Given the description of an element on the screen output the (x, y) to click on. 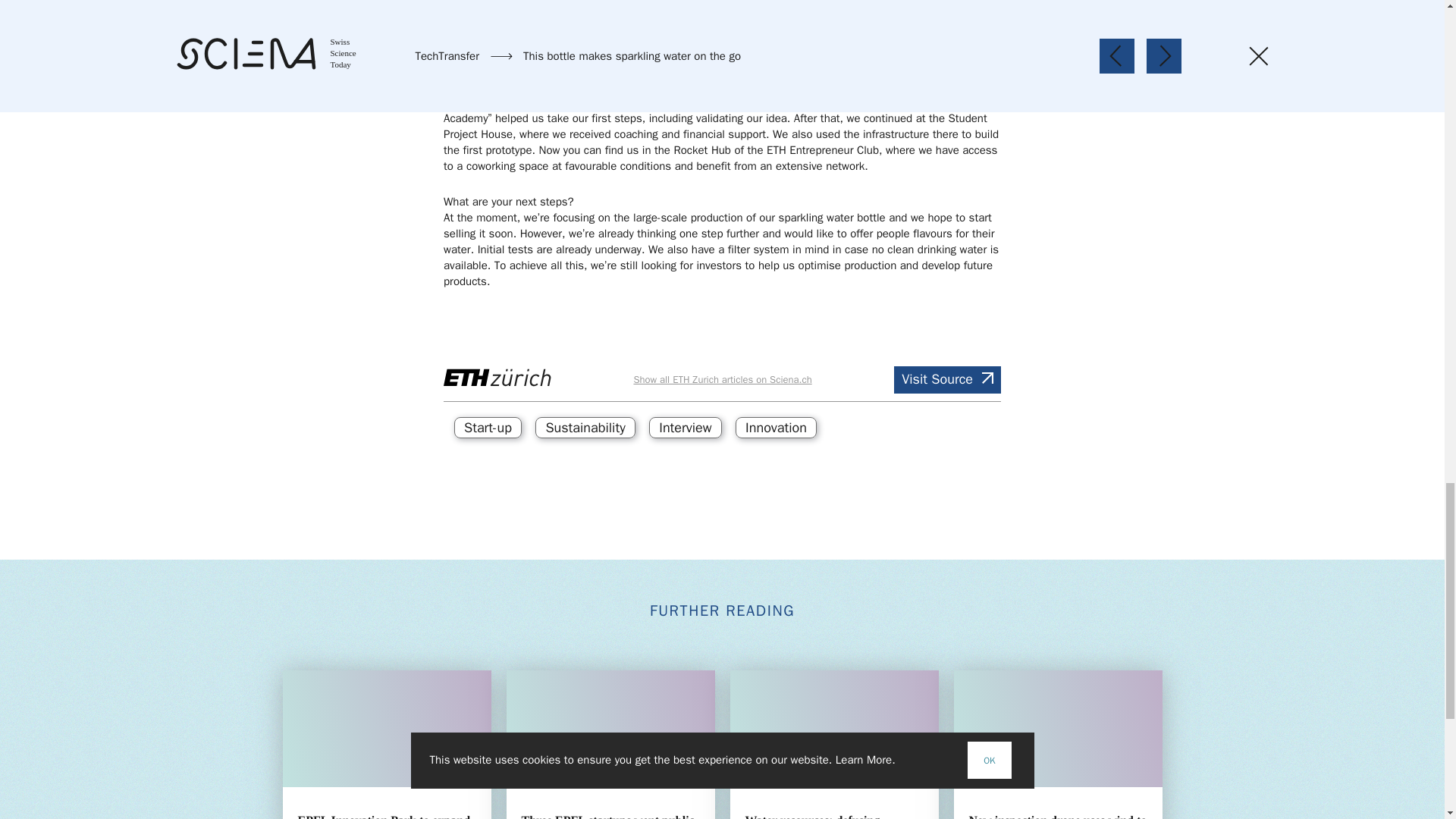
Visit Source (947, 379)
Innovation (775, 427)
Start-up (487, 427)
Show all ETH Zurich articles on Sciena.ch (722, 379)
Interview (684, 427)
Sustainability (584, 427)
ETH Zurich (497, 377)
